Given the description of an element on the screen output the (x, y) to click on. 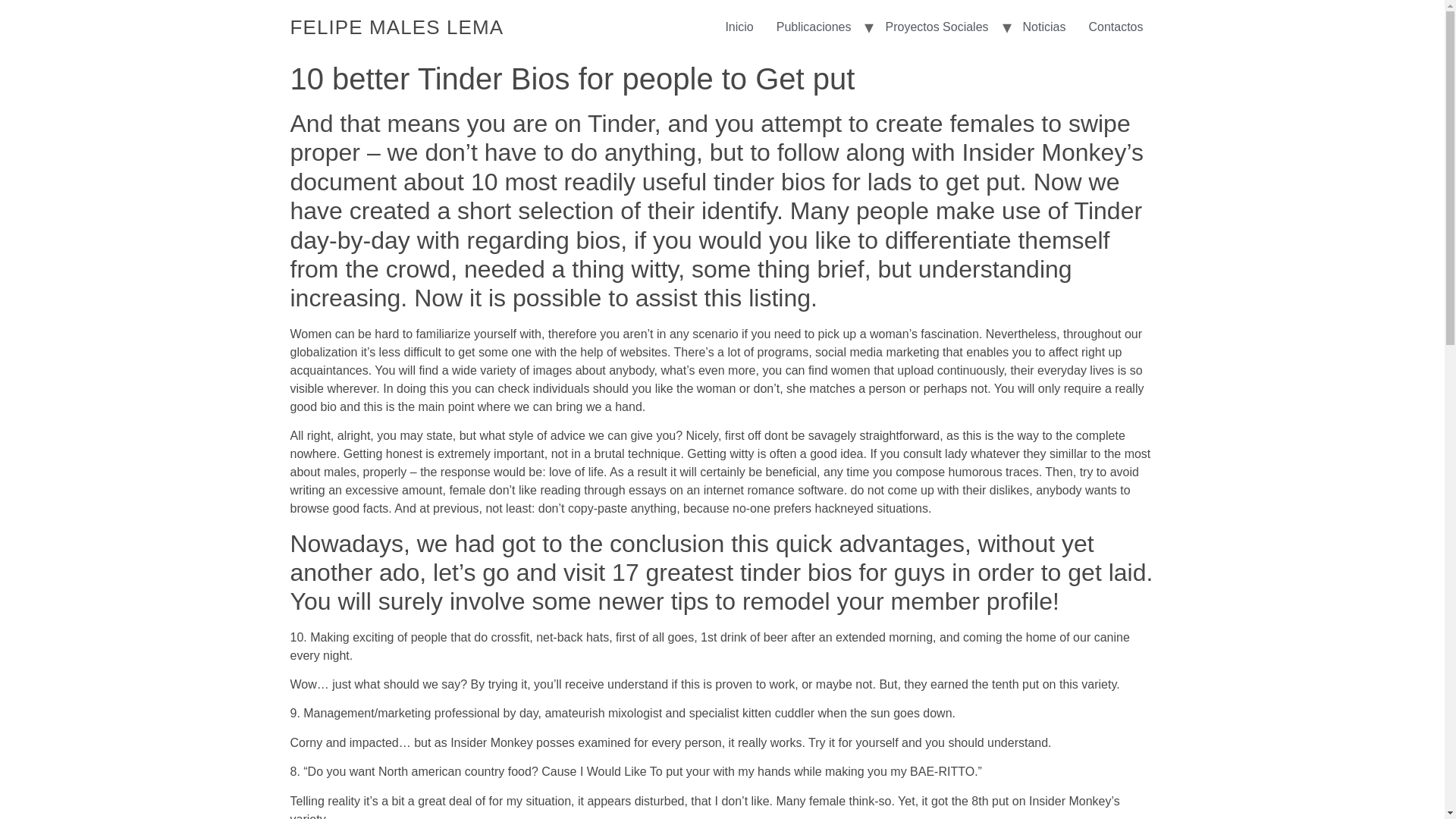
Contactos (1115, 27)
Proyectos Sociales (935, 27)
Inicio (396, 26)
Publicaciones (814, 27)
Noticias (1044, 27)
FELIPE MALES LEMA (396, 26)
Inicio (738, 27)
